Given the description of an element on the screen output the (x, y) to click on. 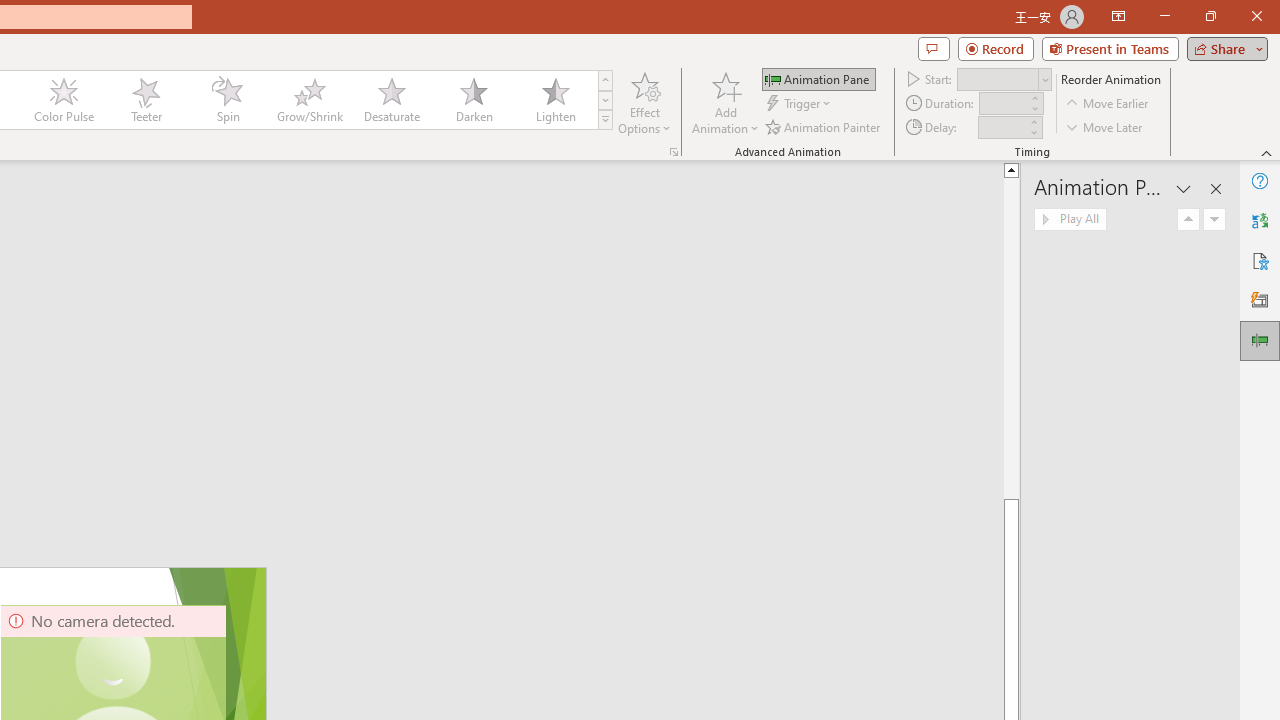
Darken (473, 100)
Animation Styles (605, 120)
Move Earlier (1107, 103)
Animation Delay (1002, 127)
Desaturate (391, 100)
Teeter (145, 100)
